Given the description of an element on the screen output the (x, y) to click on. 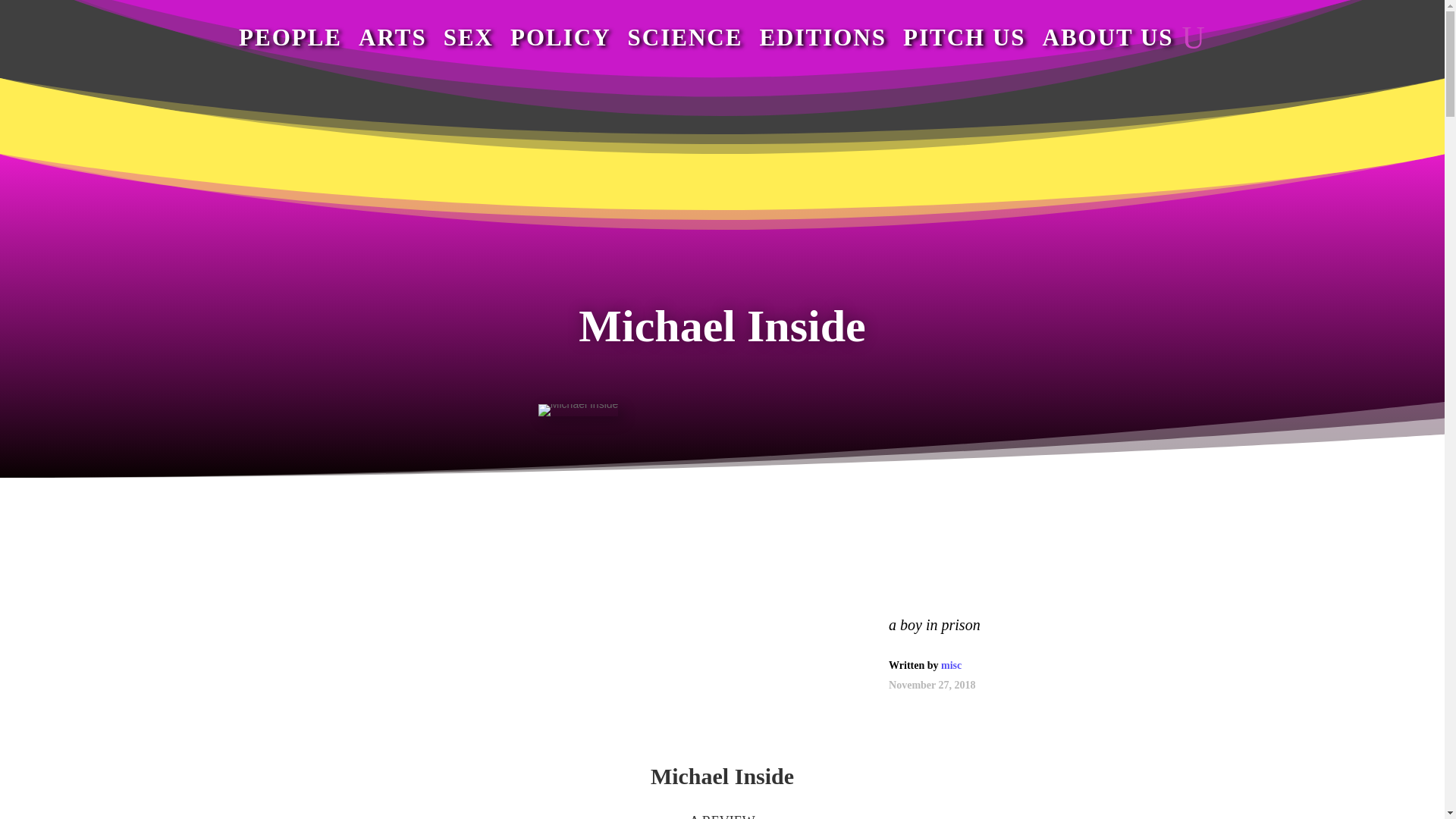
SCIENCE (684, 37)
POLICY (561, 37)
ARTS (392, 37)
PEOPLE (290, 37)
PITCH US (964, 37)
EDITIONS (822, 37)
misc (950, 665)
ABOUT US (1107, 37)
